Given the description of an element on the screen output the (x, y) to click on. 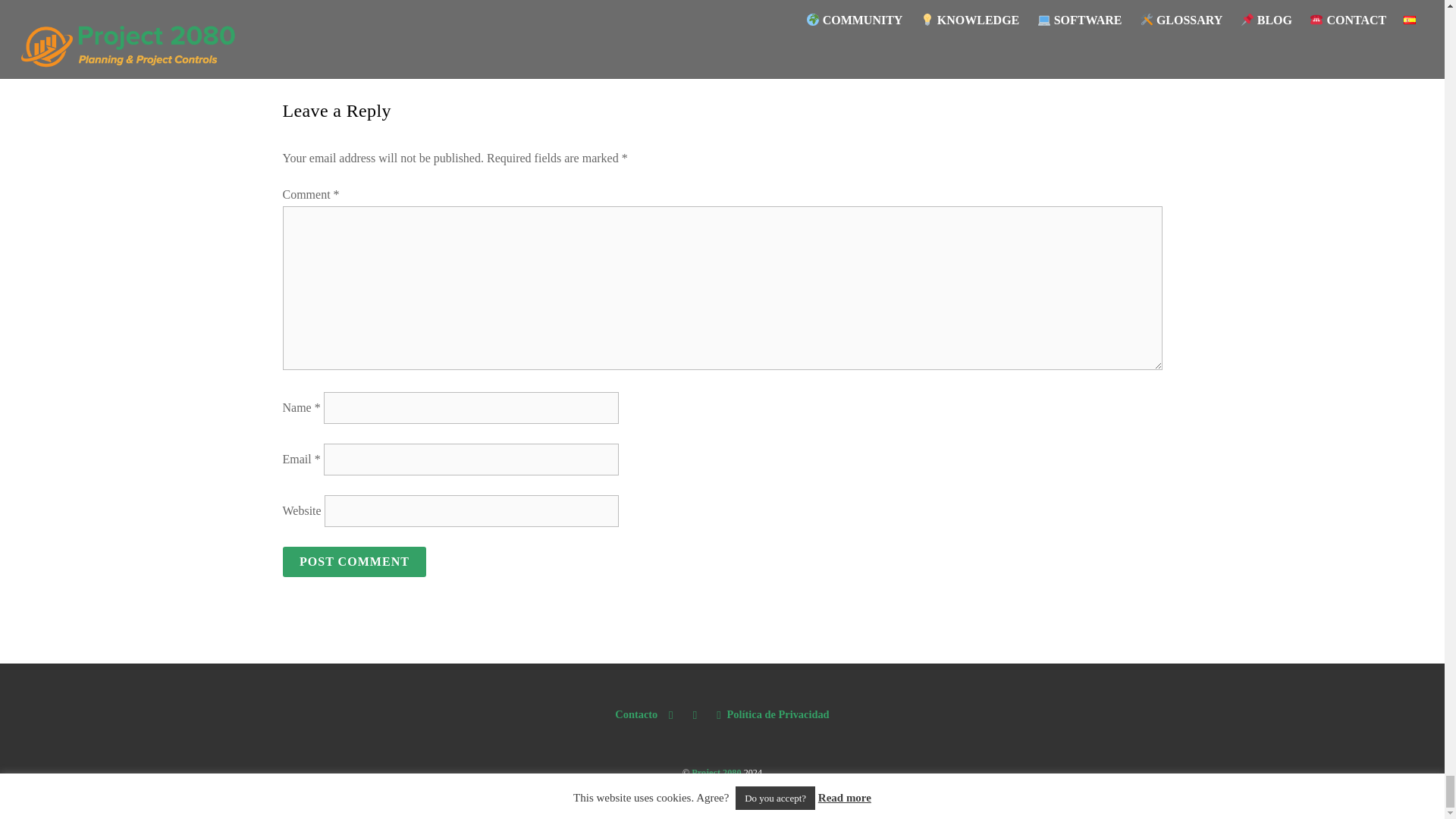
Post Comment (354, 562)
